Given the description of an element on the screen output the (x, y) to click on. 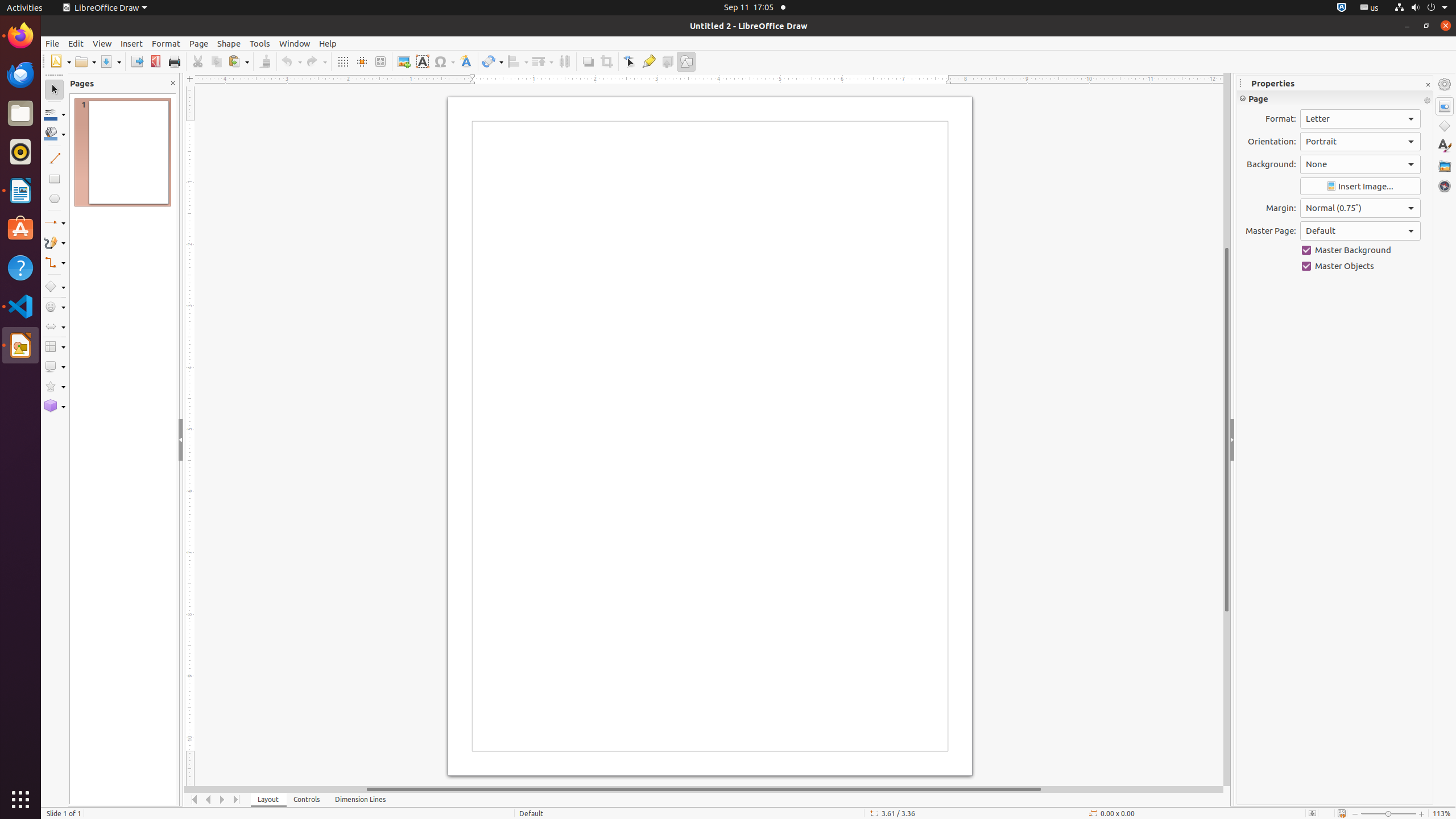
Close Sidebar Deck Element type: push-button (1427, 84)
Shape Element type: menu (228, 43)
Shadow Element type: toggle-button (587, 61)
Helplines While Moving Element type: toggle-button (361, 61)
Dimension Lines Element type: page-tab (360, 799)
